Given the description of an element on the screen output the (x, y) to click on. 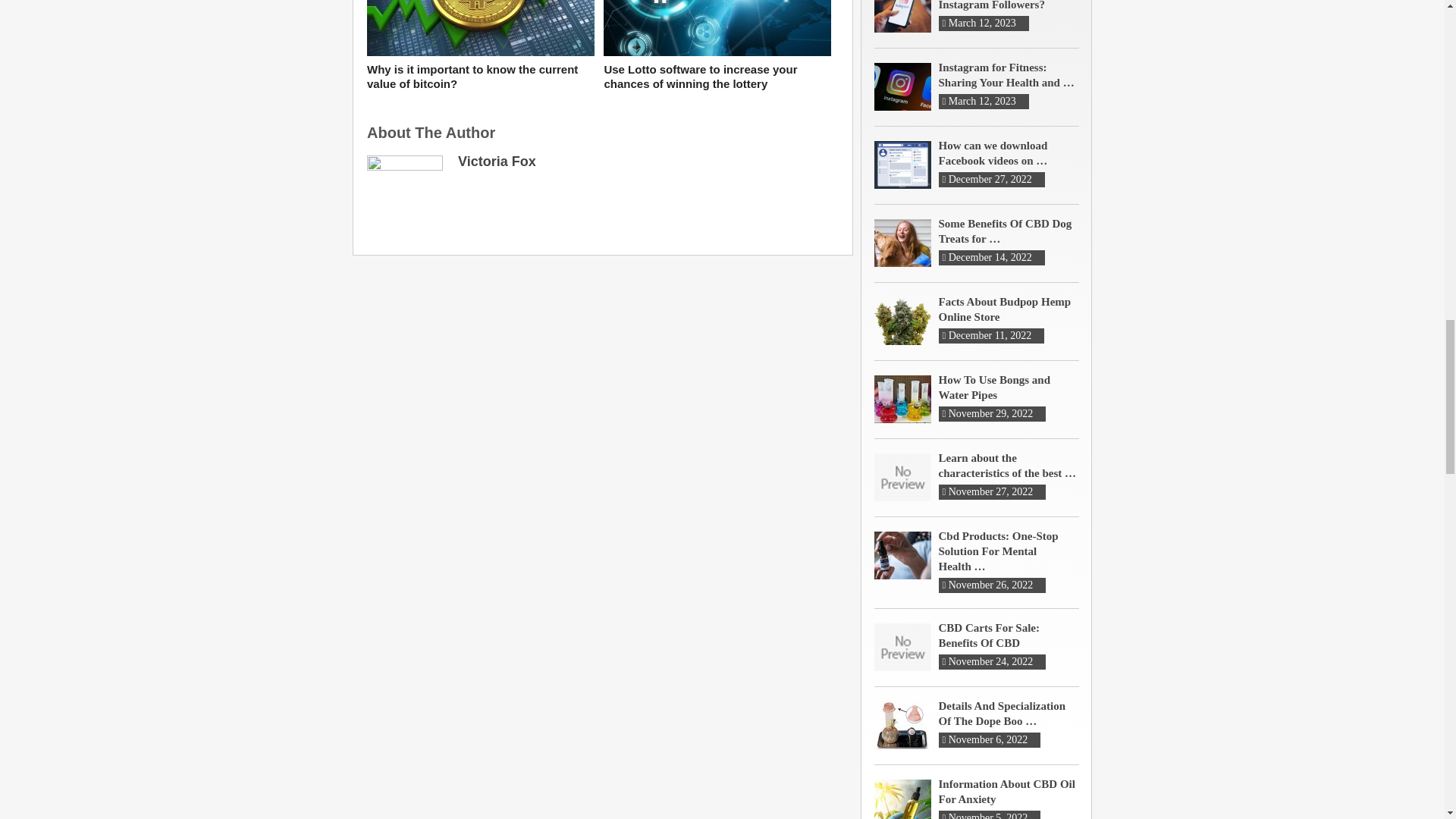
Why is it important to know the current value of bitcoin? (480, 76)
Victoria Fox (496, 160)
Why is it important to know the current value of bitcoin? (480, 76)
